Given the description of an element on the screen output the (x, y) to click on. 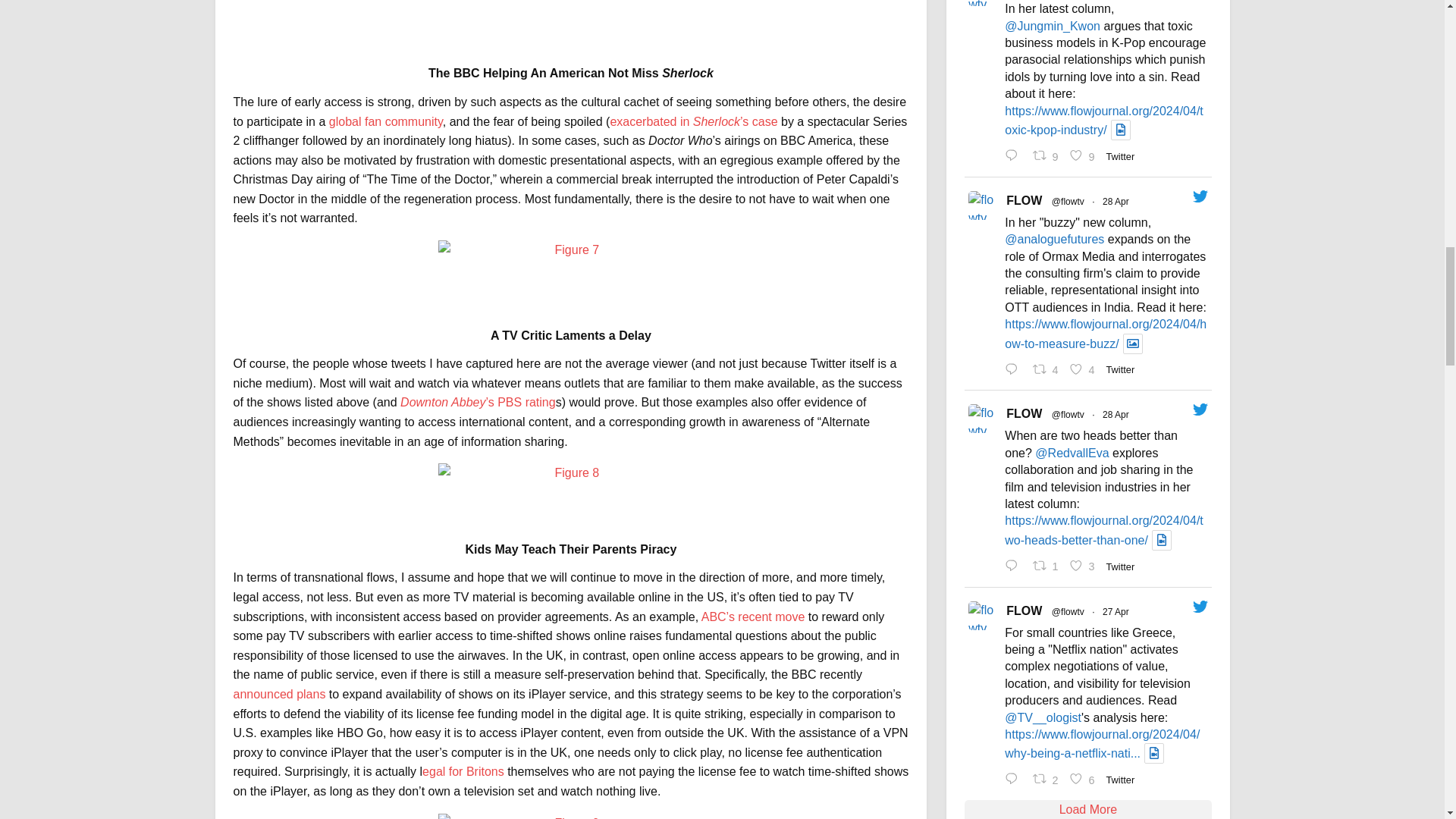
Figure 9 (570, 816)
Figure 8 (570, 485)
egal for Britons (462, 771)
Figure 7 (570, 267)
global fan community (385, 121)
announced plans (280, 694)
Figure 6 (570, 16)
